Given the description of an element on the screen output the (x, y) to click on. 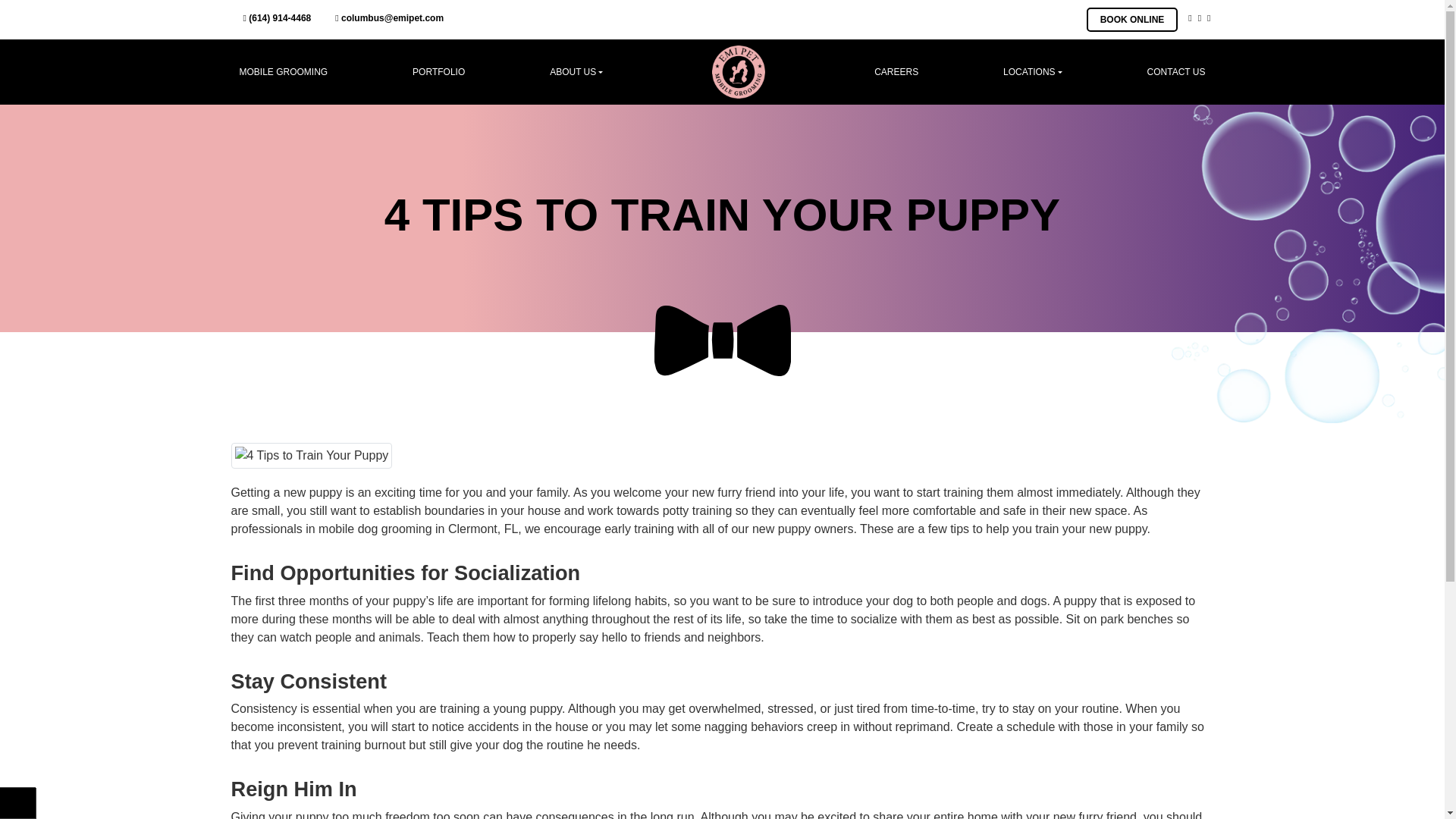
CONTACT US (1176, 71)
ABOUT US (575, 71)
About Us (575, 71)
Locations (1032, 71)
BOOK ONLINE (1131, 19)
Mobile Grooming (283, 71)
PORTFOLIO (438, 71)
Portfolio (438, 71)
MOBILE GROOMING (283, 71)
Contact Us (1176, 71)
